Given the description of an element on the screen output the (x, y) to click on. 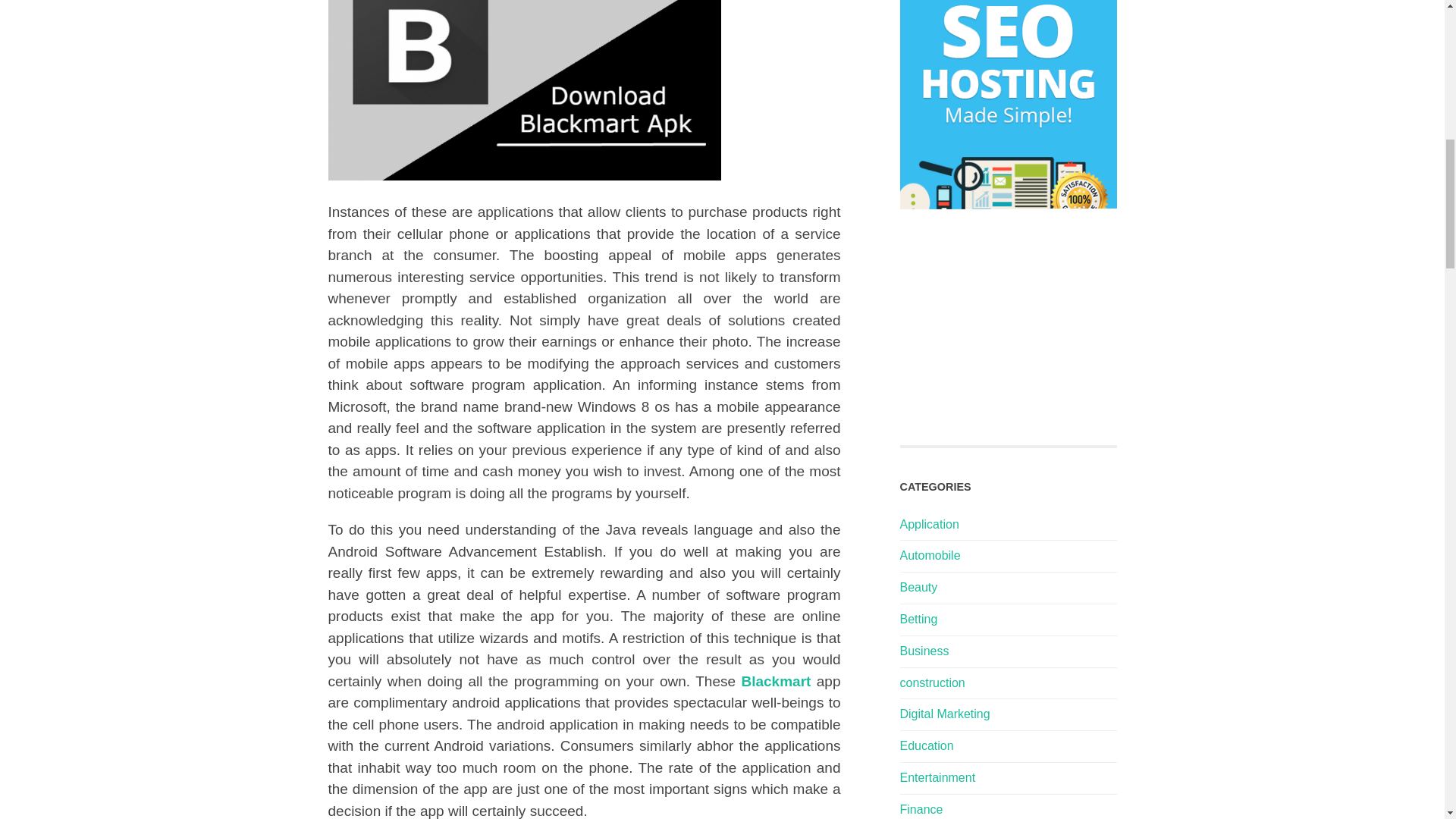
Application (928, 523)
Finance (920, 809)
Blackmart (775, 681)
Automobile (929, 554)
Digital Marketing (944, 713)
Business (924, 650)
construction (931, 682)
Entertainment (937, 777)
Beauty (918, 586)
Education (926, 745)
Betting (918, 618)
